Given the description of an element on the screen output the (x, y) to click on. 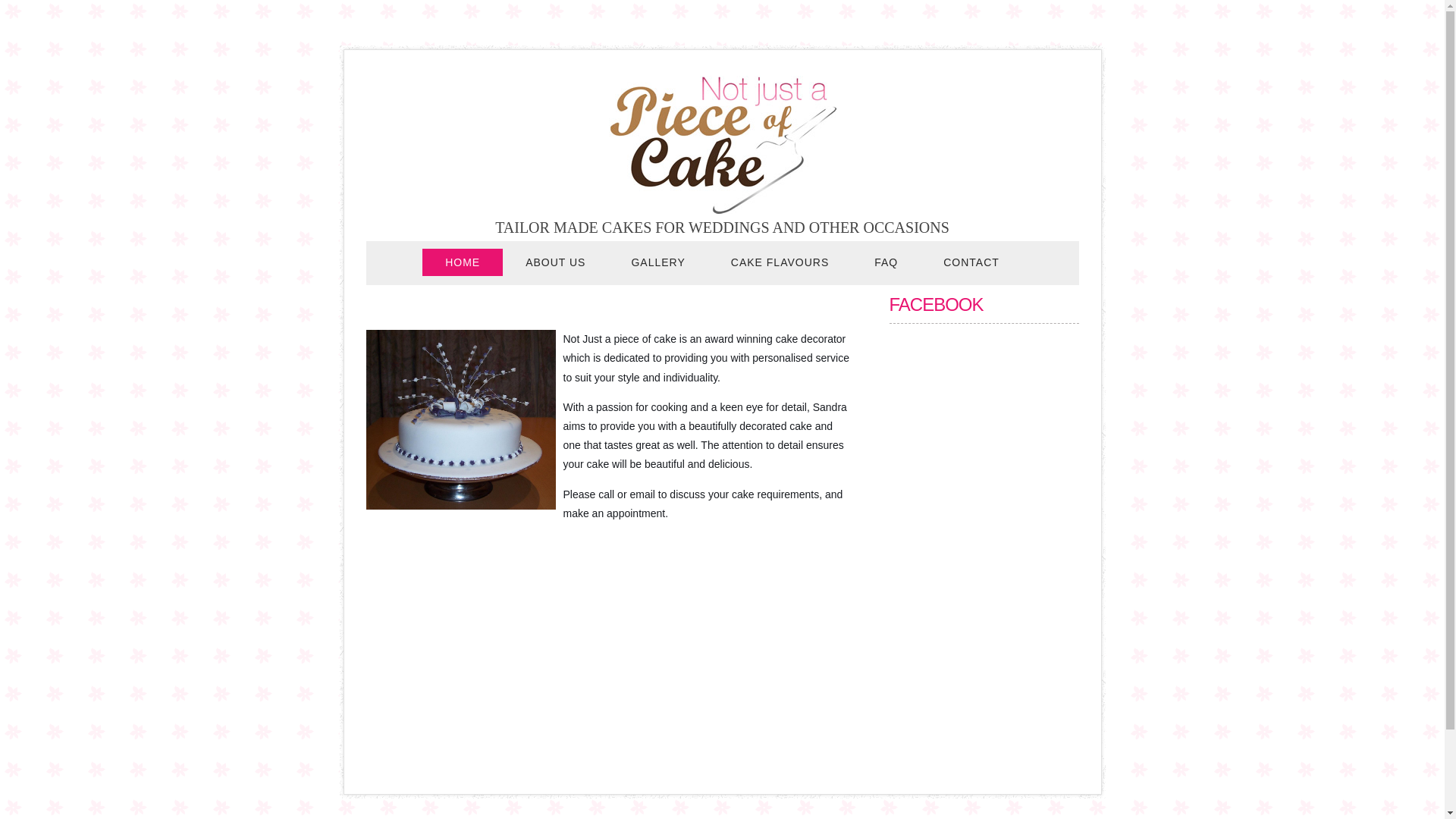
HOME Element type: text (462, 262)
CAKE FLAVOURS Element type: text (779, 262)
GALLERY Element type: text (657, 262)
CONTACT Element type: text (971, 262)
ABOUT US Element type: text (555, 262)
FAQ Element type: text (885, 262)
